Given the description of an element on the screen output the (x, y) to click on. 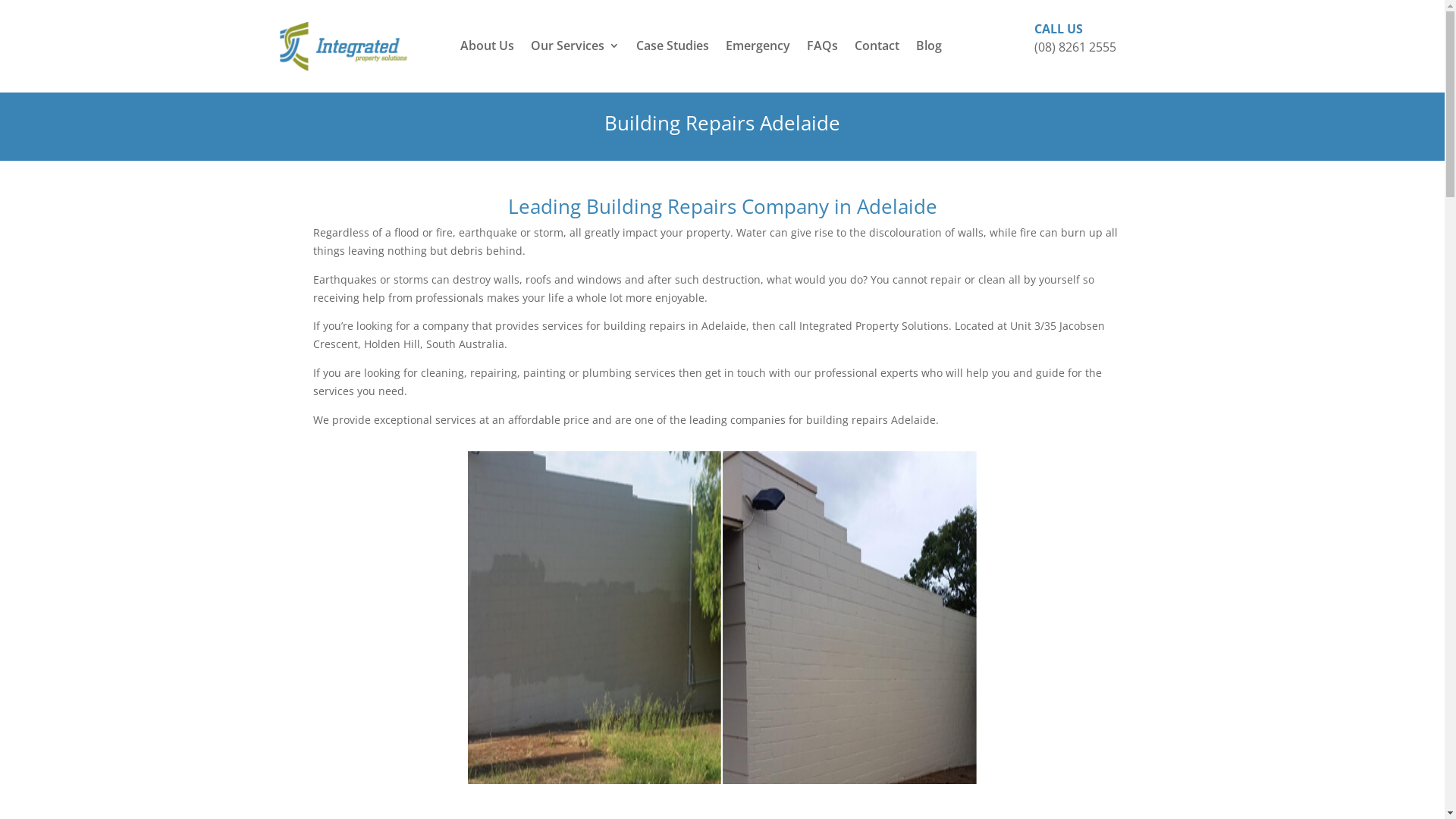
Blog Element type: text (928, 48)
Contact Element type: text (876, 48)
IPS-Logo-e1546594708444 Element type: hover (343, 46)
About Us Element type: text (487, 48)
Case Studies Element type: text (672, 48)
FAQs Element type: text (821, 48)
Emergency Element type: text (757, 48)
Our Services Element type: text (574, 48)
Painting-Wall Element type: hover (721, 617)
